Given the description of an element on the screen output the (x, y) to click on. 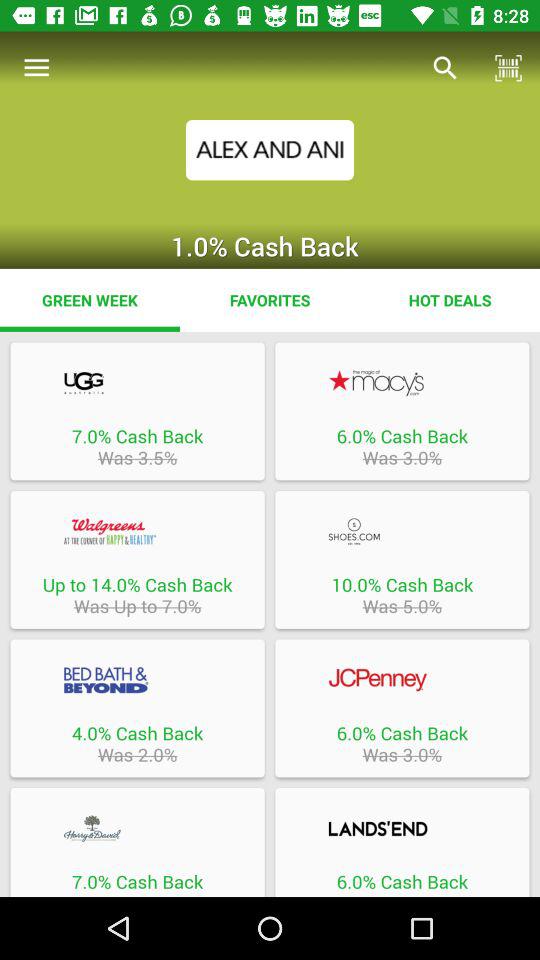
scroll to the favorites (270, 299)
